Given the description of an element on the screen output the (x, y) to click on. 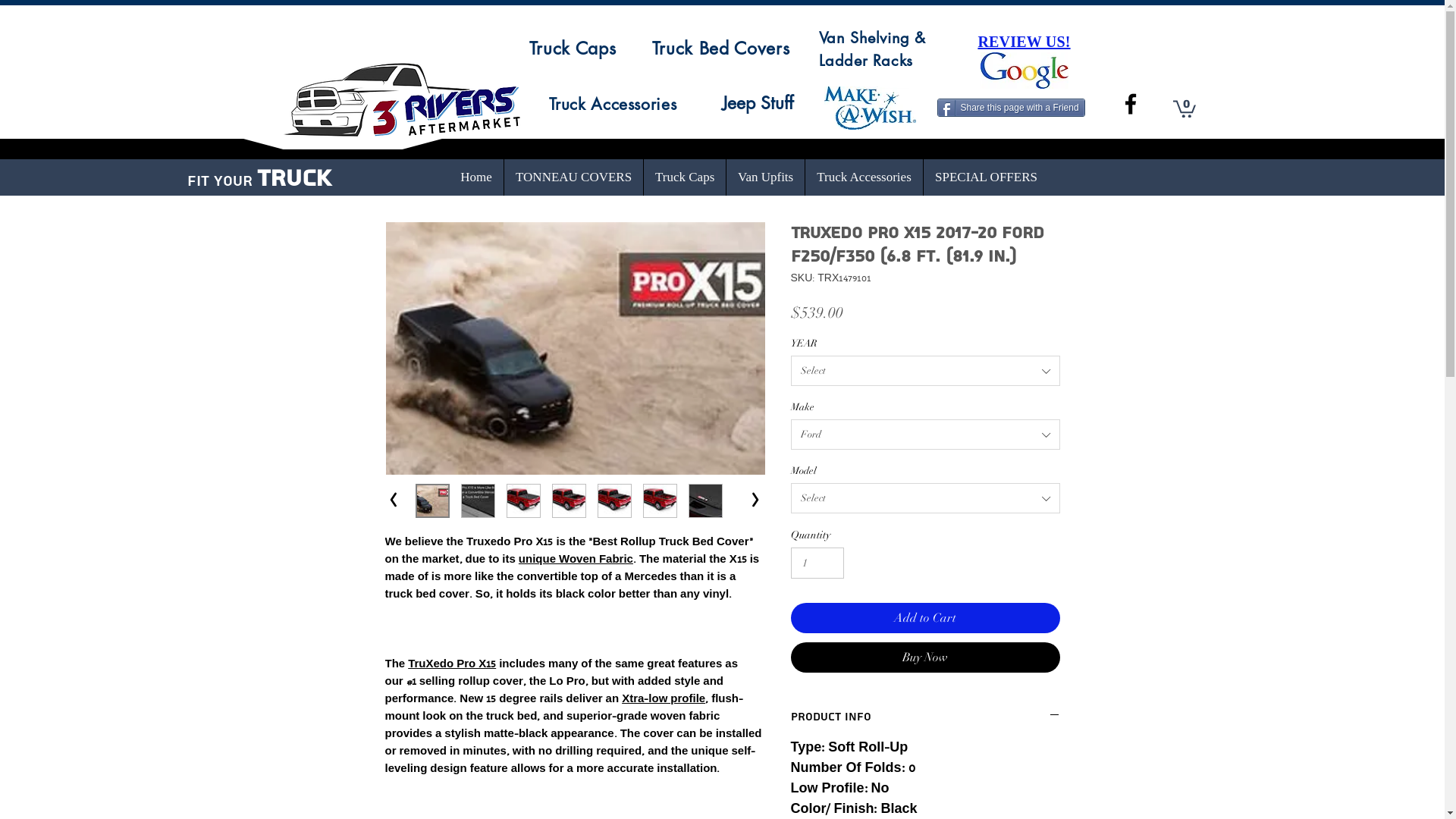
Buy Now Element type: text (924, 657)
Select Element type: text (924, 370)
Home Element type: text (475, 176)
Product Info Element type: text (924, 717)
Add to Cart Element type: text (924, 617)
Truck Caps Element type: text (572, 47)
0 Element type: text (1183, 107)
Truck Accessories Element type: text (863, 176)
Jeep Stuff Element type: text (757, 102)
Truck Caps Element type: text (684, 176)
Truck Accessories Element type: text (613, 102)
Truck Bed Covers Element type: text (721, 47)
Ford Element type: text (924, 434)
Van Upfits Element type: text (765, 176)
REVIEW US! Element type: text (1023, 41)
Van Shelving & Ladder Racks Element type: text (872, 47)
Select Element type: text (924, 498)
SPECIAL OFFERS Element type: text (985, 176)
Share this page with a Friend Element type: text (1011, 107)
TONNEAU COVERS Element type: text (573, 176)
